Given the description of an element on the screen output the (x, y) to click on. 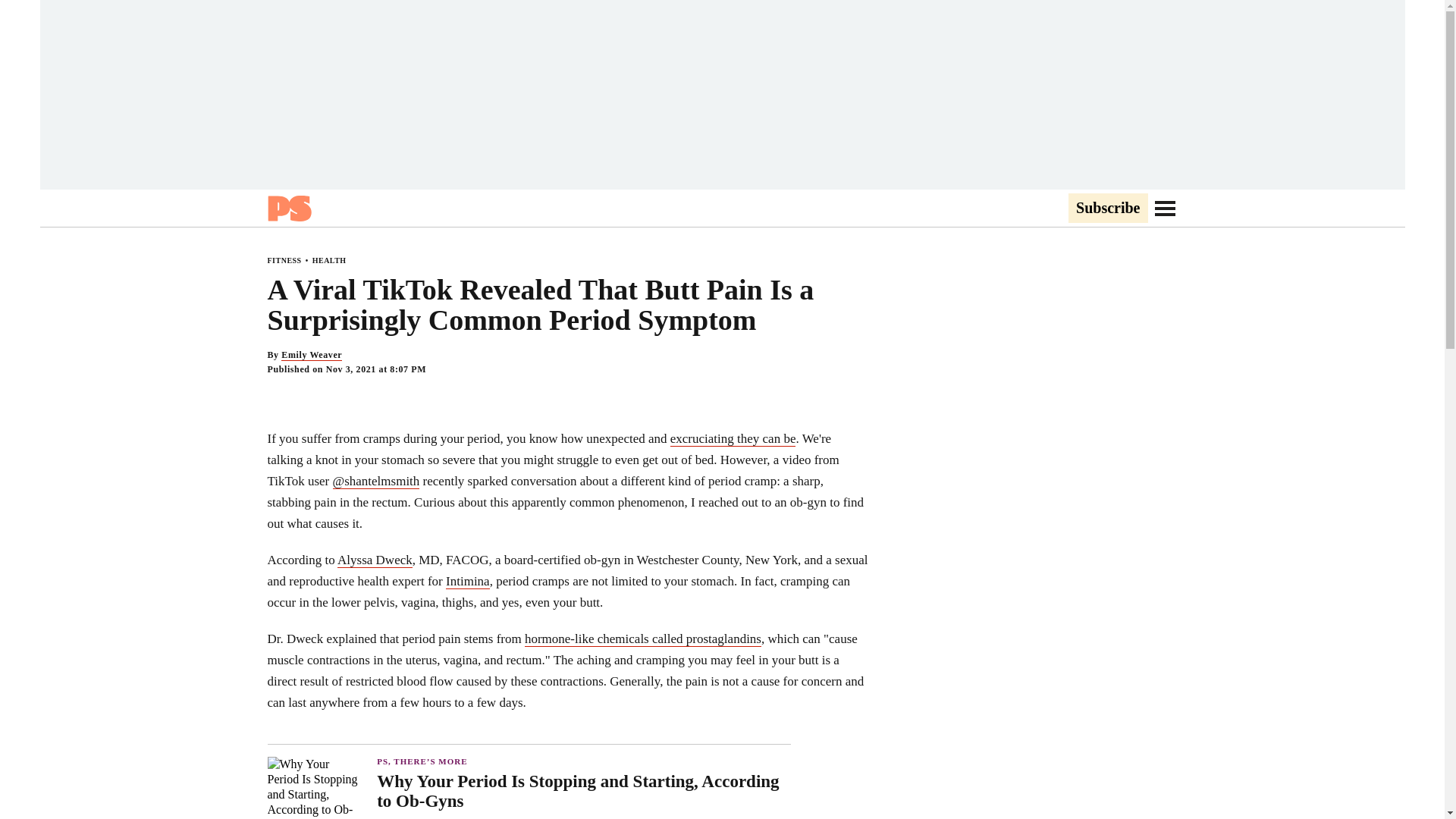
excruciating they can be (732, 438)
FITNESS (283, 260)
HEALTH (329, 260)
Subscribe (1107, 208)
Intimina (467, 581)
Alyssa Dweck (374, 560)
Go to Navigation (1164, 207)
Emily Weaver (311, 355)
Popsugar (288, 208)
